Given the description of an element on the screen output the (x, y) to click on. 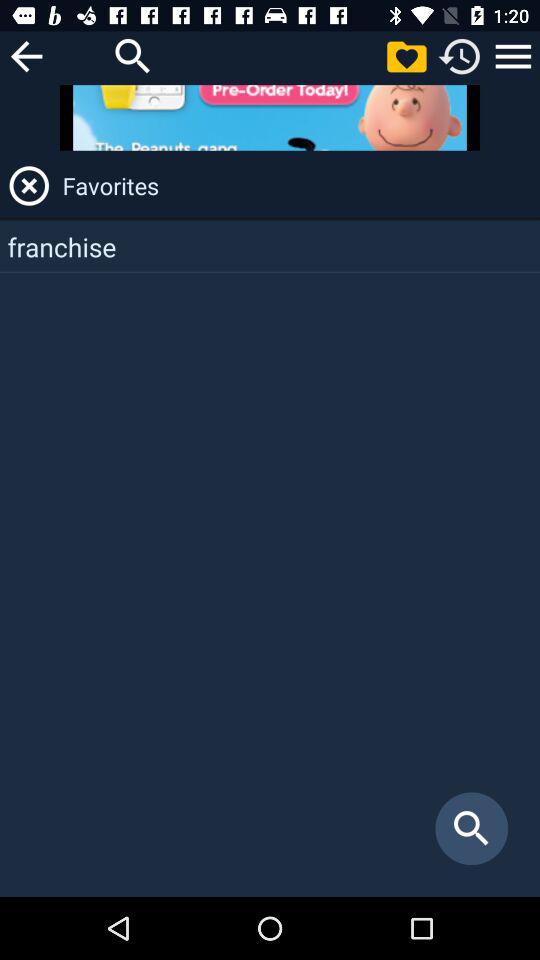
shows favorites (406, 56)
